Given the description of an element on the screen output the (x, y) to click on. 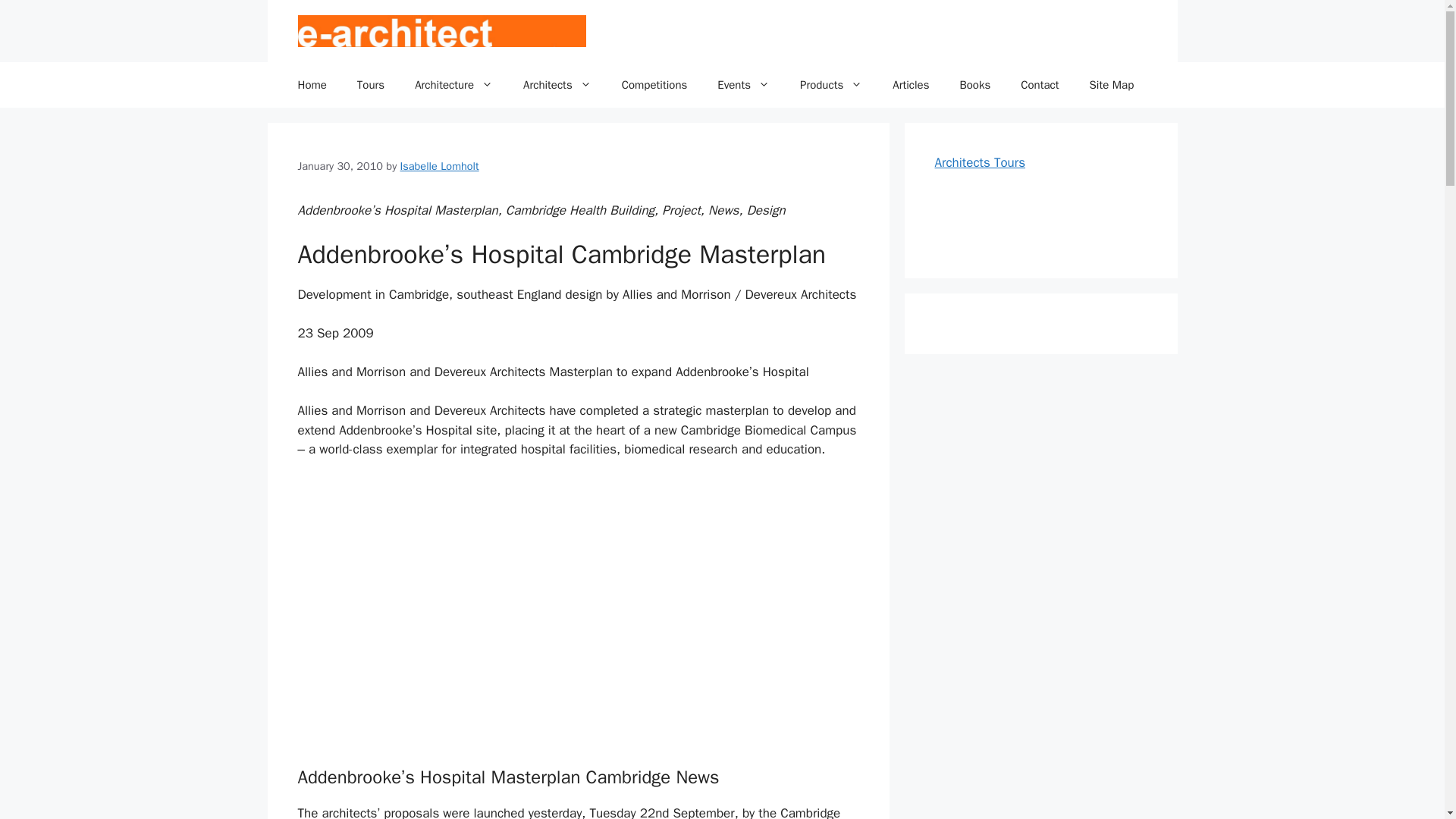
Products (830, 84)
Architecture (453, 84)
Isabelle Lomholt (439, 165)
Site Map (1112, 84)
Books (974, 84)
View all posts by Isabelle Lomholt (439, 165)
Contact (1040, 84)
Tours (370, 84)
Architects (557, 84)
Home (311, 84)
